Given the description of an element on the screen output the (x, y) to click on. 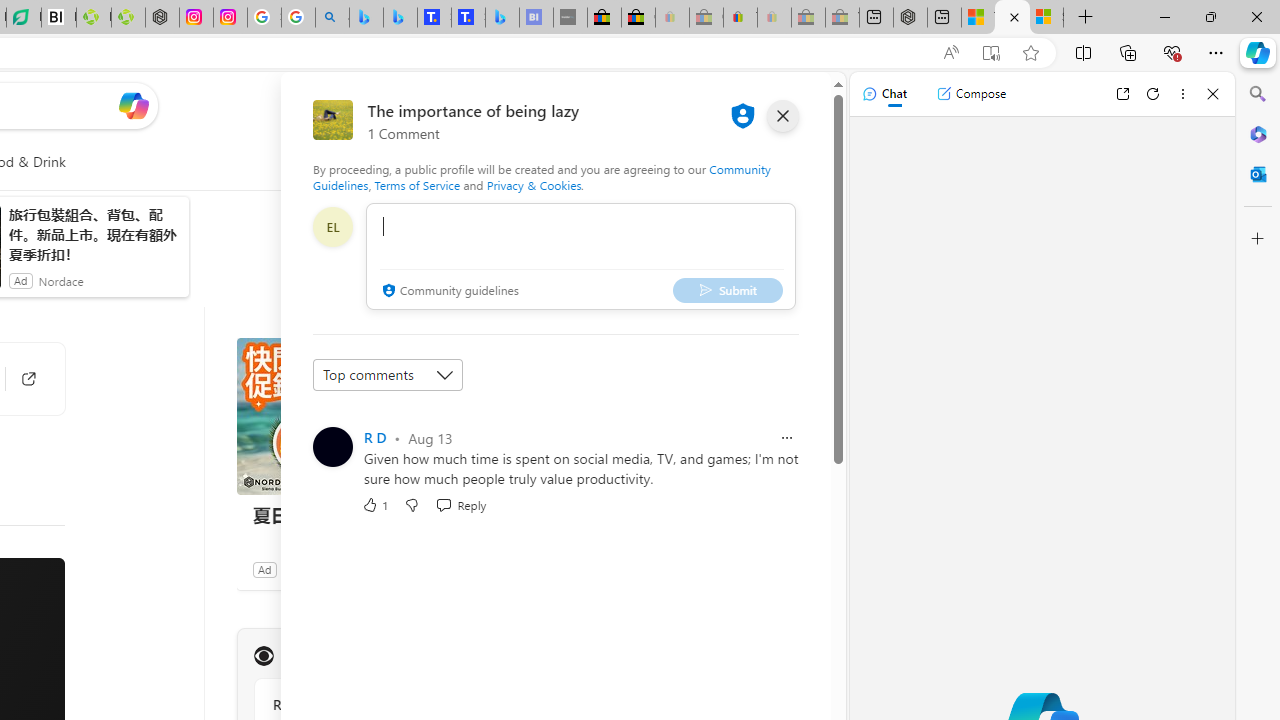
Community guidelines (448, 291)
1 Like (375, 504)
The importance of being lazy (1012, 17)
Payments Terms of Use | eBay.com - Sleeping (774, 17)
Reply Reply Comment (461, 504)
alabama high school quarterback dies - Search (332, 17)
